Given the description of an element on the screen output the (x, y) to click on. 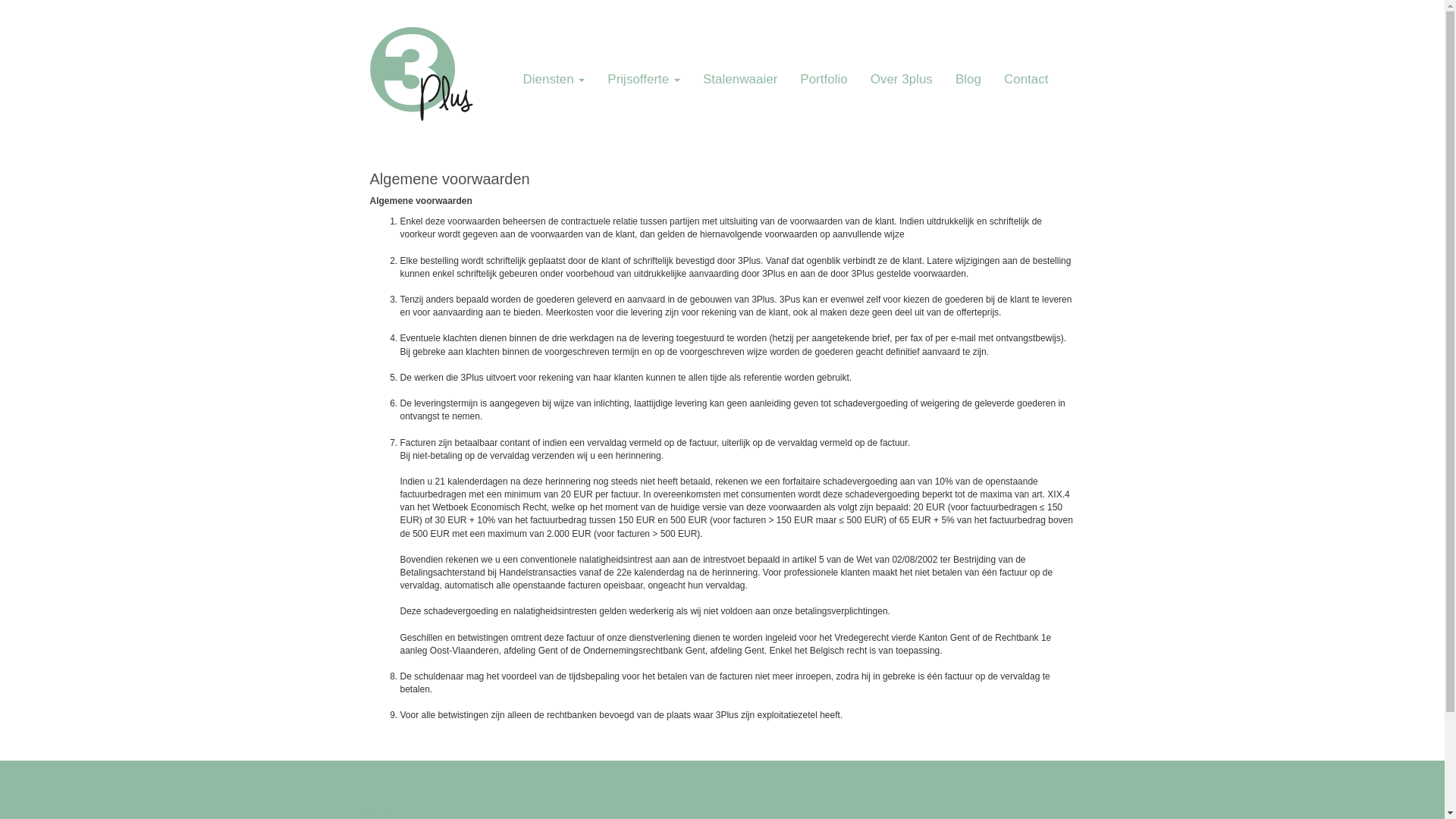
Contact Element type: text (1026, 79)
Stalenwaaier Element type: text (739, 79)
Diensten Element type: text (553, 79)
Blog Element type: text (968, 79)
Over 3plus Element type: text (901, 79)
Portfolio Element type: text (823, 79)
Prijsofferte Element type: text (643, 79)
